Given the description of an element on the screen output the (x, y) to click on. 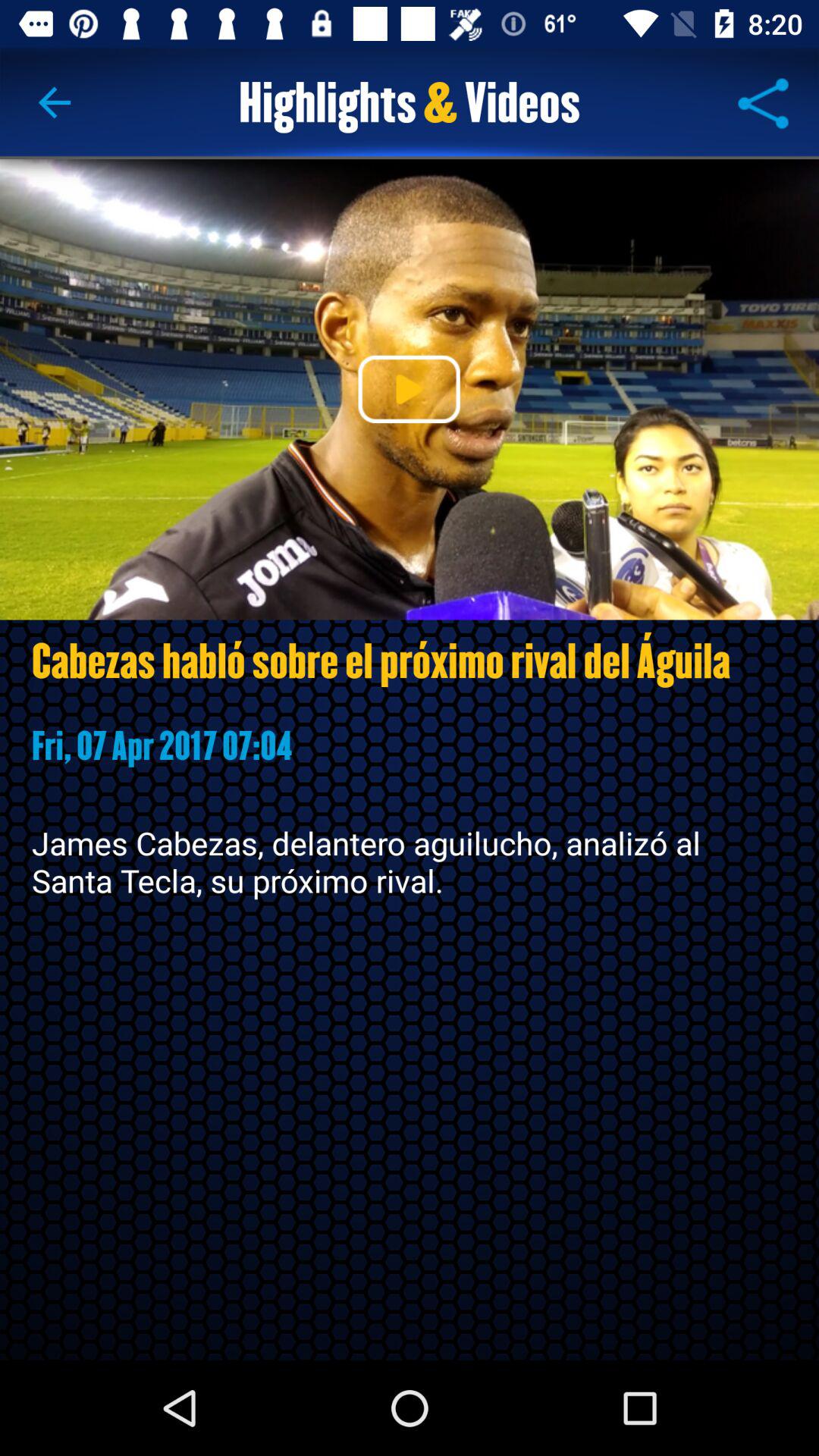
toggle playback (409, 389)
